Given the description of an element on the screen output the (x, y) to click on. 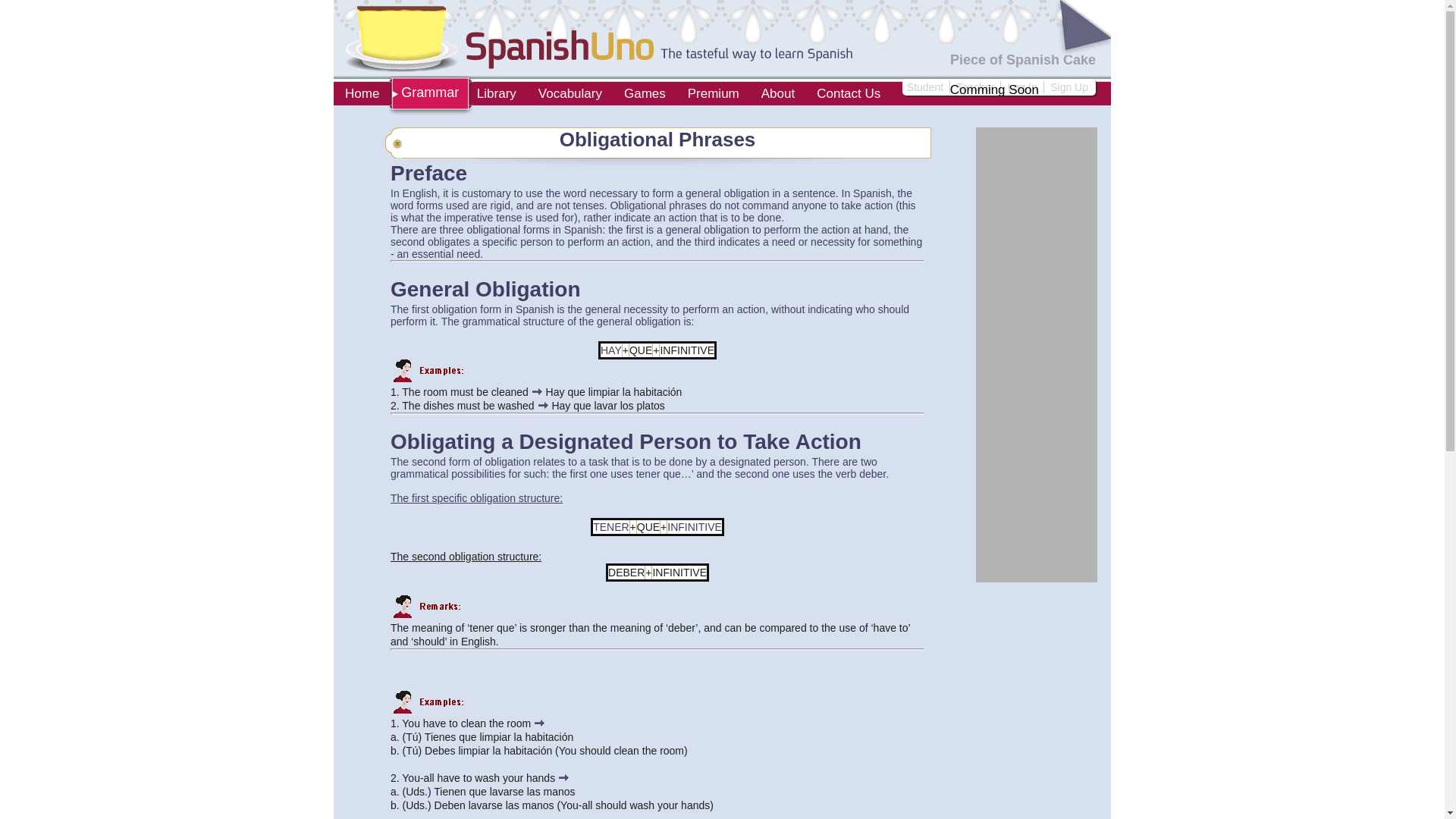
Contact Us (848, 96)
Home (361, 96)
About (777, 96)
Teacher (977, 87)
Library (496, 96)
Premium (713, 96)
Library (496, 96)
Vocabulary (569, 96)
Student (927, 87)
Teacher (977, 87)
Home (361, 96)
Spanish UNO (592, 37)
Spanish UNO (598, 38)
Contact Us (848, 96)
Log In (1023, 87)
